Given the description of an element on the screen output the (x, y) to click on. 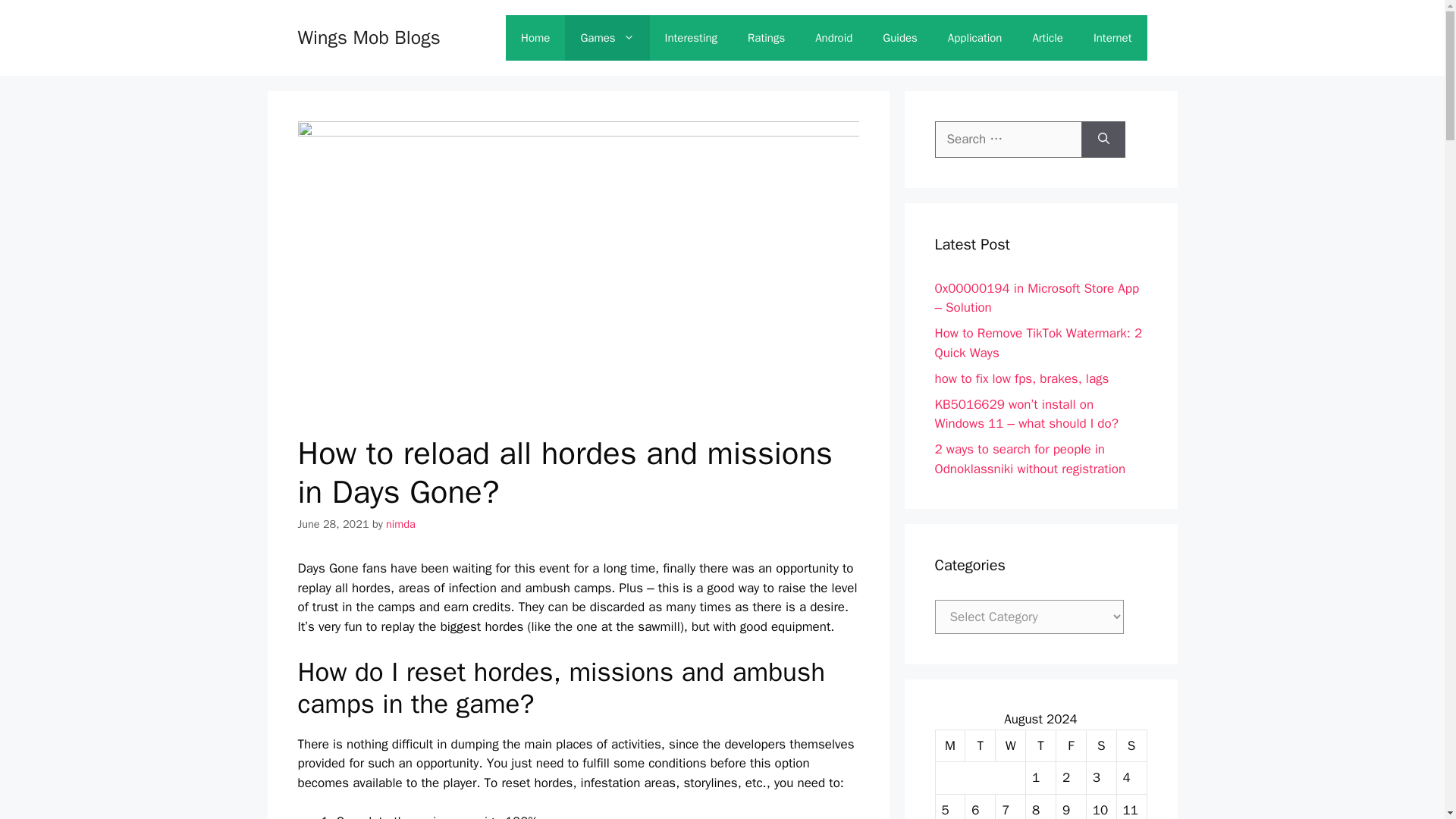
Search for: (1007, 139)
Wings Mob Blogs (368, 37)
Article (1046, 37)
Guides (900, 37)
Sunday (1131, 745)
Saturday (1101, 745)
Ratings (765, 37)
Application (975, 37)
Android (833, 37)
How to Remove TikTok Watermark: 2 Quick Ways (1037, 343)
